Given the description of an element on the screen output the (x, y) to click on. 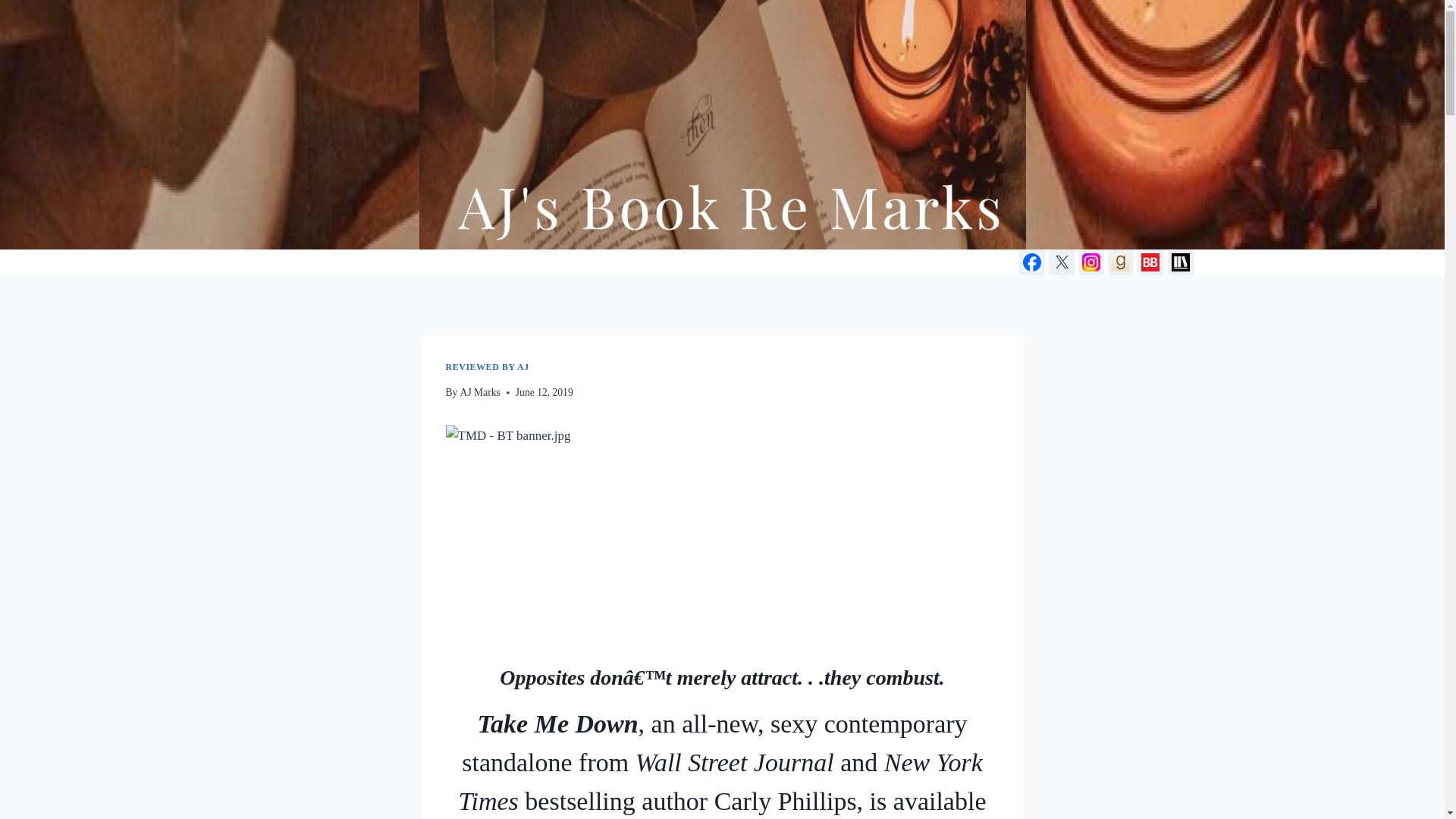
AJ Marks (480, 392)
REVIEWED BY AJ (487, 366)
